Given the description of an element on the screen output the (x, y) to click on. 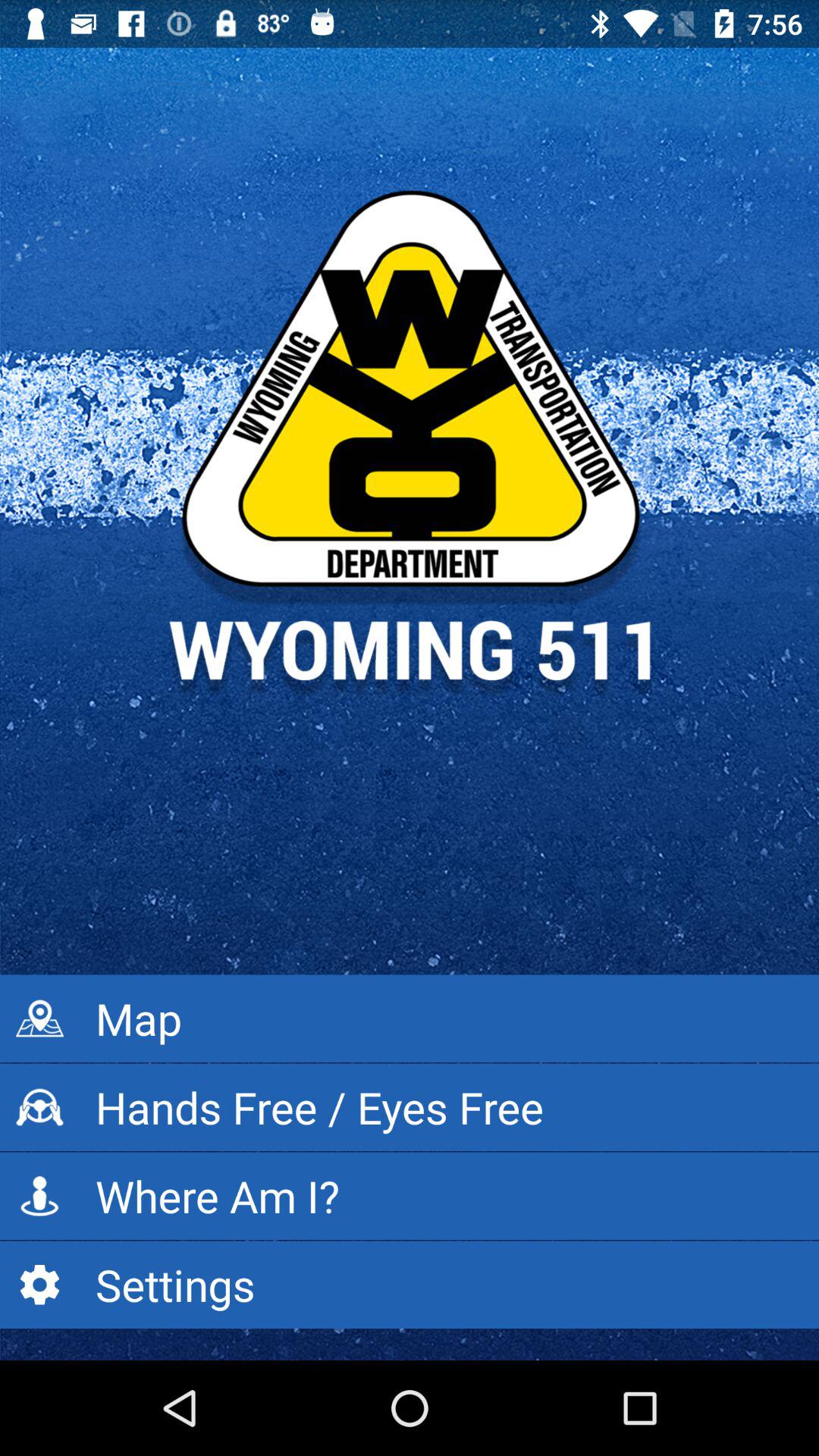
turn on settings icon (409, 1284)
